Given the description of an element on the screen output the (x, y) to click on. 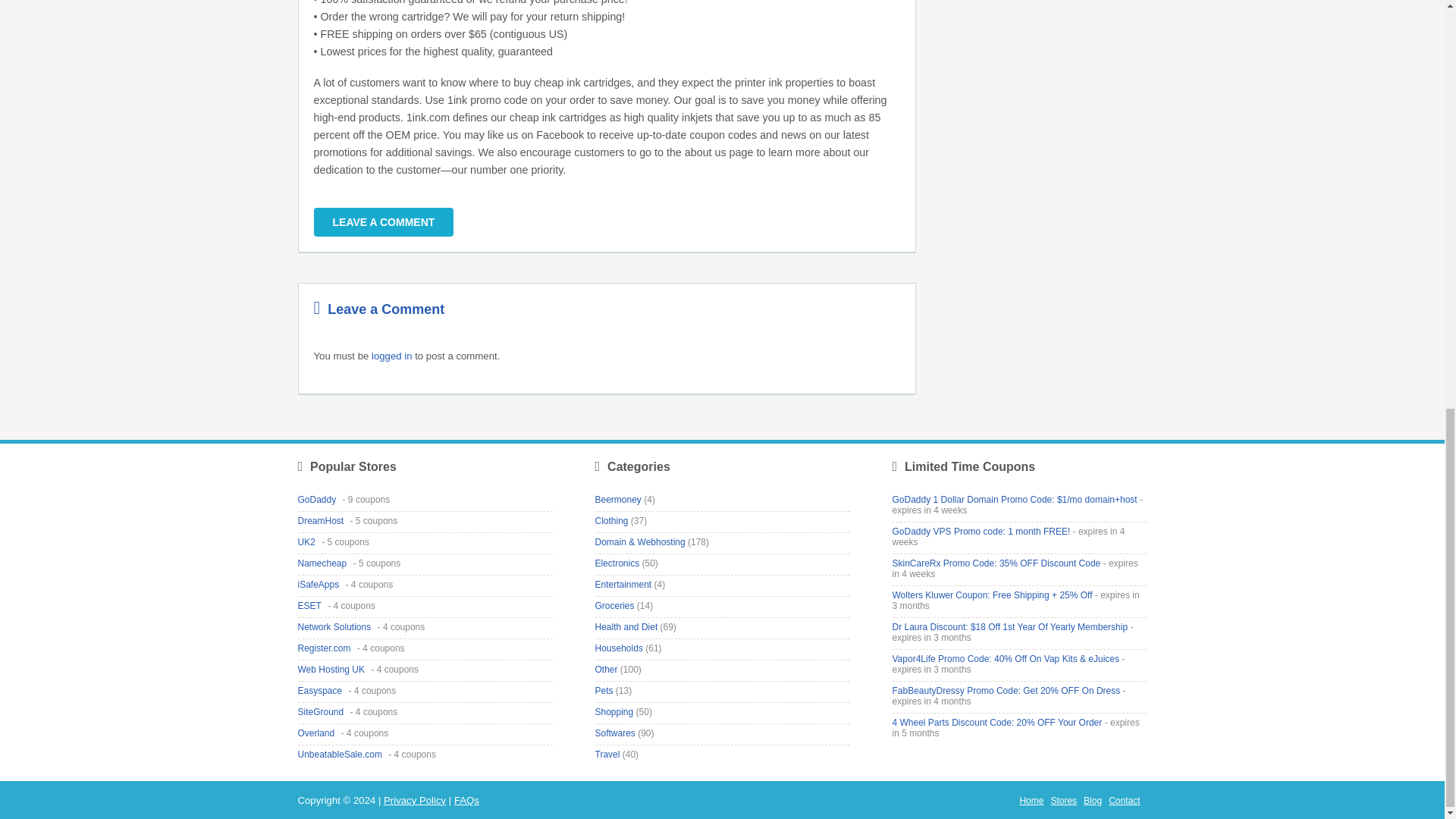
GoDaddy (318, 499)
LEAVE A COMMENT (384, 222)
logged in (391, 355)
Coupon Codes not included in any particular caategory. (605, 669)
Discounts and coupons for daily household items. (618, 647)
